Given the description of an element on the screen output the (x, y) to click on. 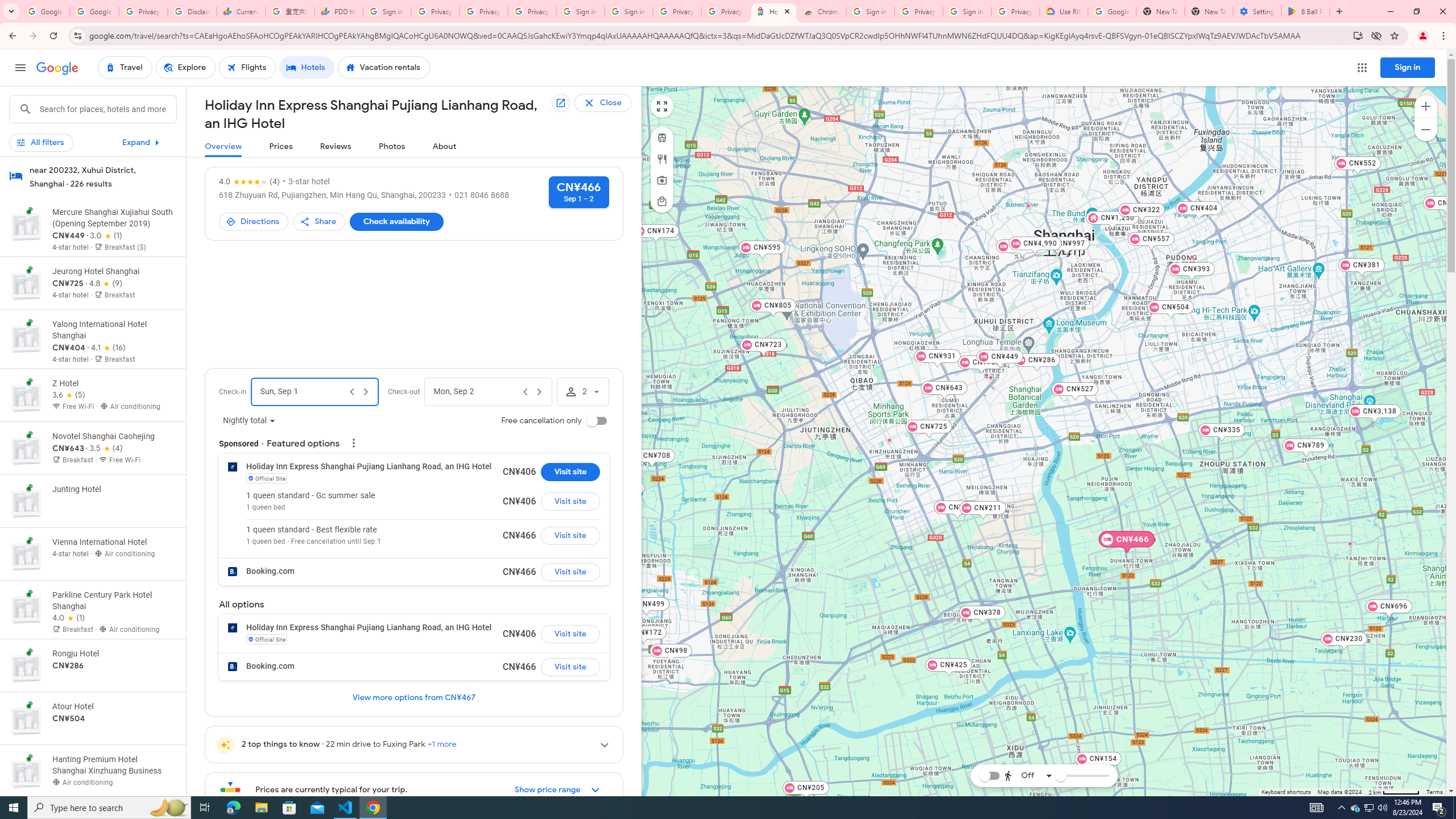
Chrome Web Store - Color themes by Chrome (822, 11)
Reachability slider (1060, 775)
Expand (142, 142)
Reviews (335, 146)
View prices for Jeurong Hotel Shanghai (113, 322)
Map Scale: 2 km per 61 pixels (1393, 791)
2 top things to know22 min drive to Fuxing Park+1 more (414, 744)
